Given the description of an element on the screen output the (x, y) to click on. 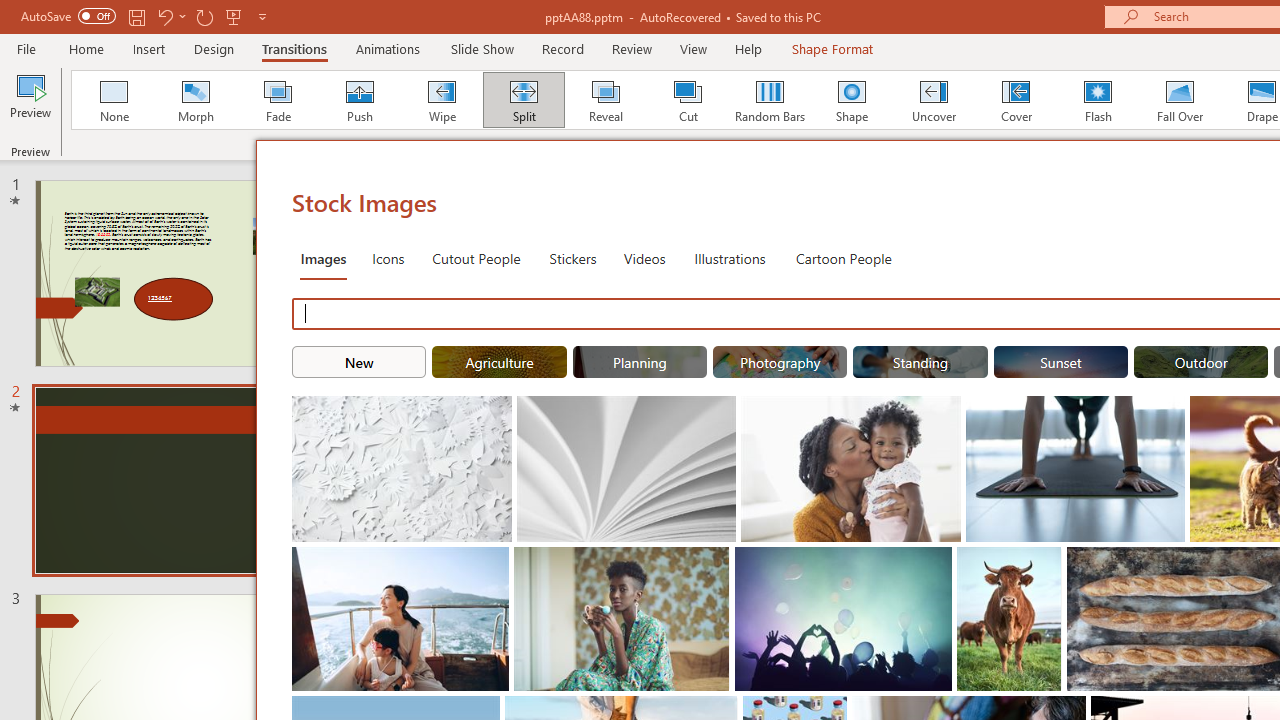
Morph (195, 100)
Images (322, 258)
Shape Format (832, 48)
"Outdoor" Stock Images. (1201, 362)
Fade (277, 100)
Cutout People (477, 258)
Cover (1016, 100)
Icons (388, 258)
